Given the description of an element on the screen output the (x, y) to click on. 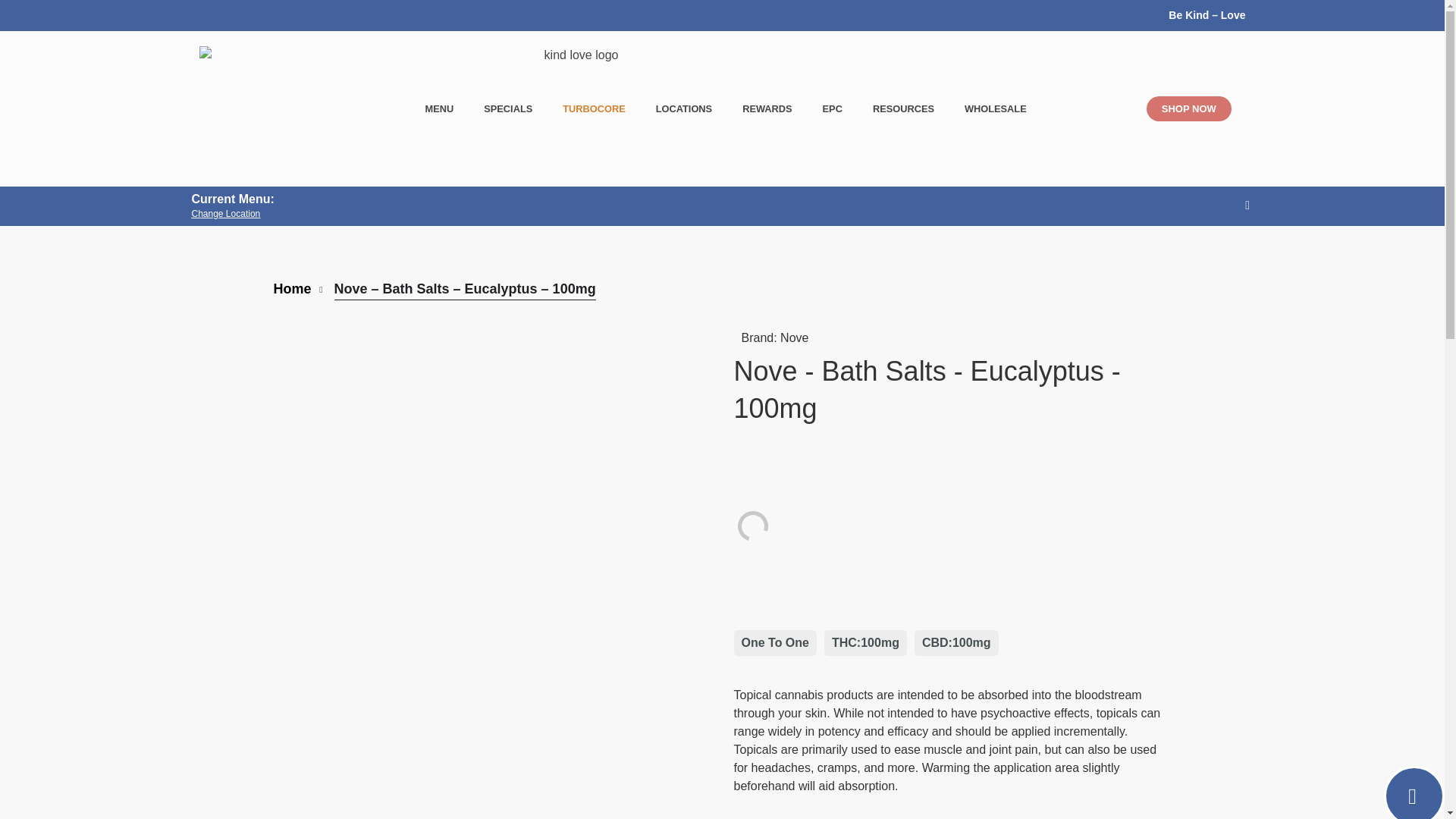
LOCATIONS (683, 109)
MENU (439, 109)
RESOURCES (903, 109)
EPC (832, 109)
TURBOCORE (593, 109)
SPECIALS (507, 109)
WHOLESALE (995, 109)
REWARDS (766, 109)
